Given the description of an element on the screen output the (x, y) to click on. 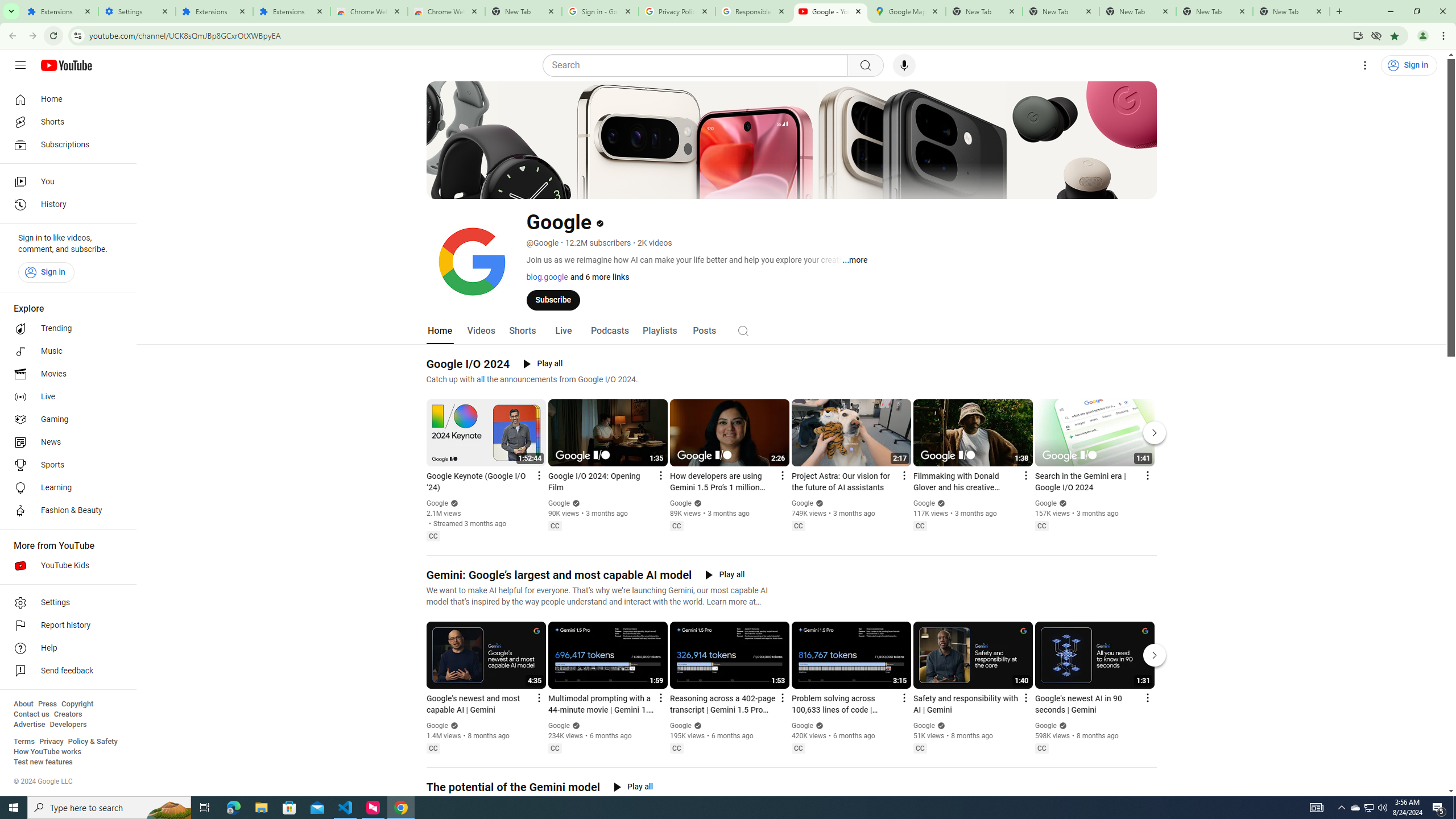
Closed captions (1041, 748)
Sports (64, 464)
Live (562, 330)
Copyright (77, 703)
YouTube Kids (64, 565)
Trending (64, 328)
Extensions (213, 11)
Extensions (290, 11)
